Given the description of an element on the screen output the (x, y) to click on. 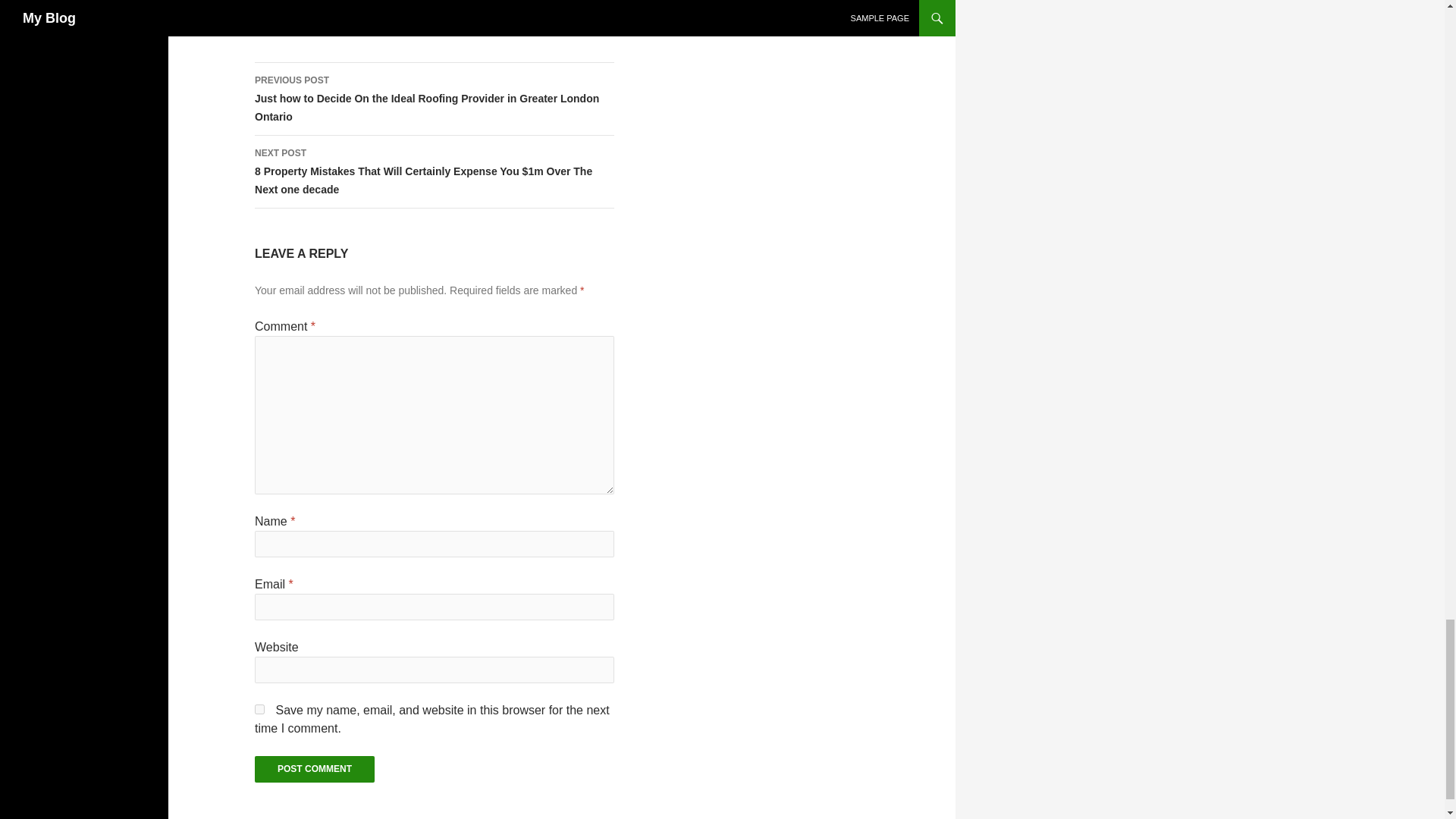
Post Comment (314, 768)
Post Comment (314, 768)
yes (259, 709)
